Given the description of an element on the screen output the (x, y) to click on. 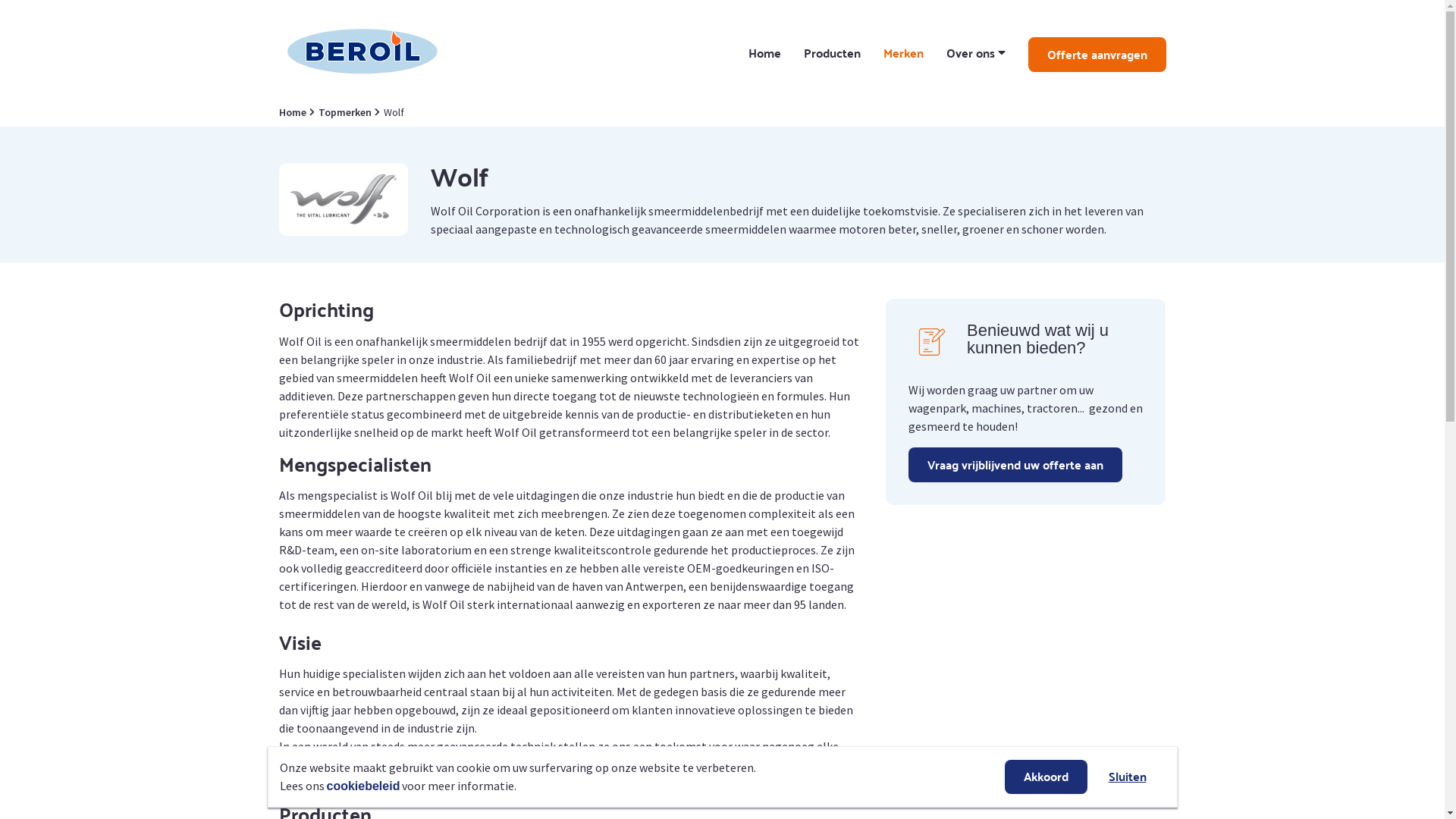
Offerte aanvragen Element type: text (1097, 54)
Topmerken Element type: text (342, 112)
cookiebeleid Element type: text (362, 785)
Merken Element type: text (902, 54)
Sluiten Element type: text (1126, 776)
Akkoord Element type: text (1045, 776)
Home Element type: text (763, 54)
Over ons Element type: text (975, 54)
Wolf Element type: text (391, 112)
Producten Element type: text (831, 54)
Home Element type: text (292, 112)
Vraag vrijblijvend uw offerte aan Element type: text (1015, 464)
